Given the description of an element on the screen output the (x, y) to click on. 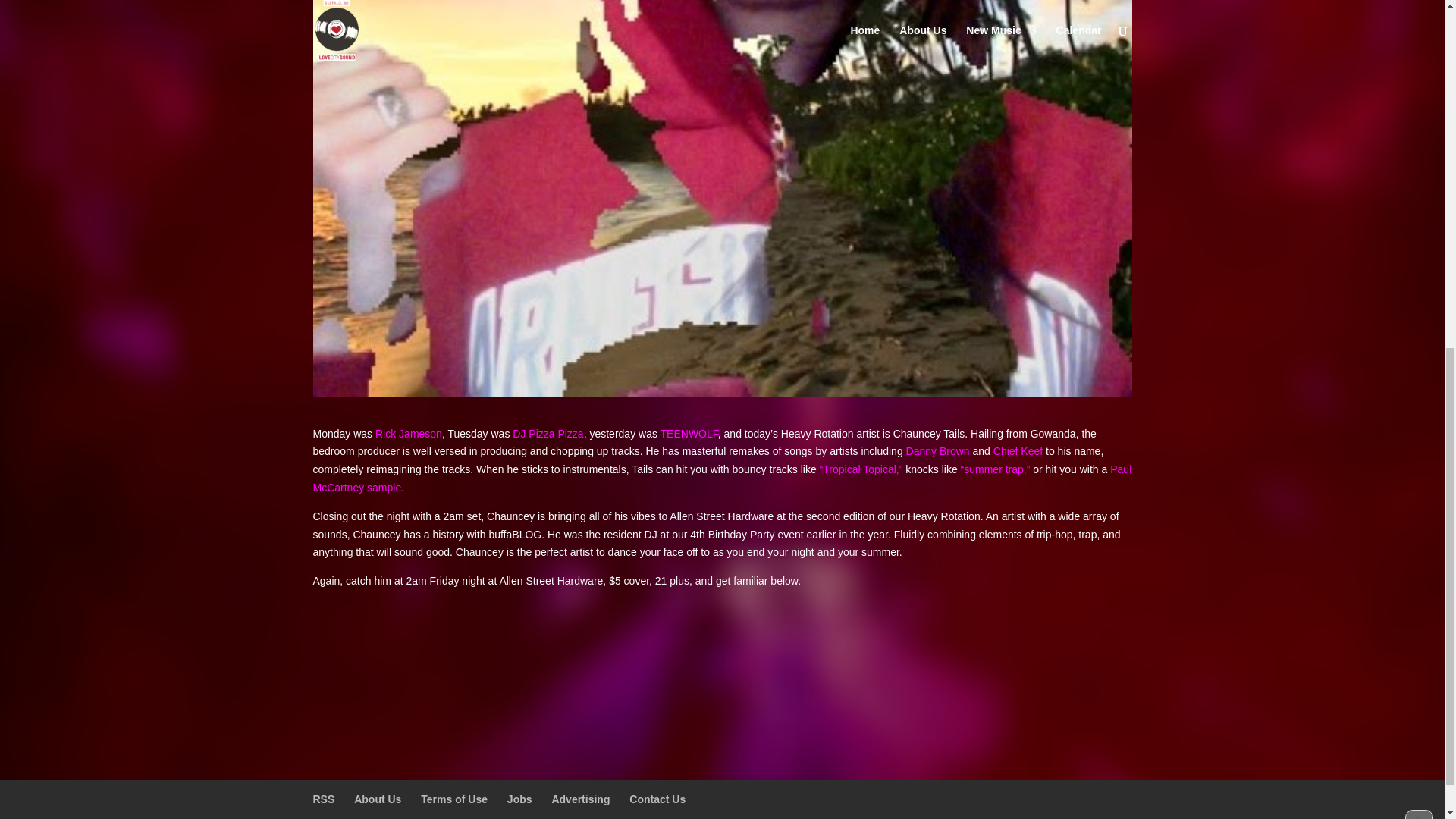
RSS (323, 799)
Contact Us (656, 799)
Paul McCartney sample (722, 478)
Terms of Use (453, 799)
DJ Pizza Pizza (547, 433)
Advertising (580, 799)
About Us (377, 799)
Jobs (519, 799)
Chief Keef (1018, 451)
Danny Brown (937, 451)
TEENWOLF (689, 433)
Rick Jameson (408, 433)
